Given the description of an element on the screen output the (x, y) to click on. 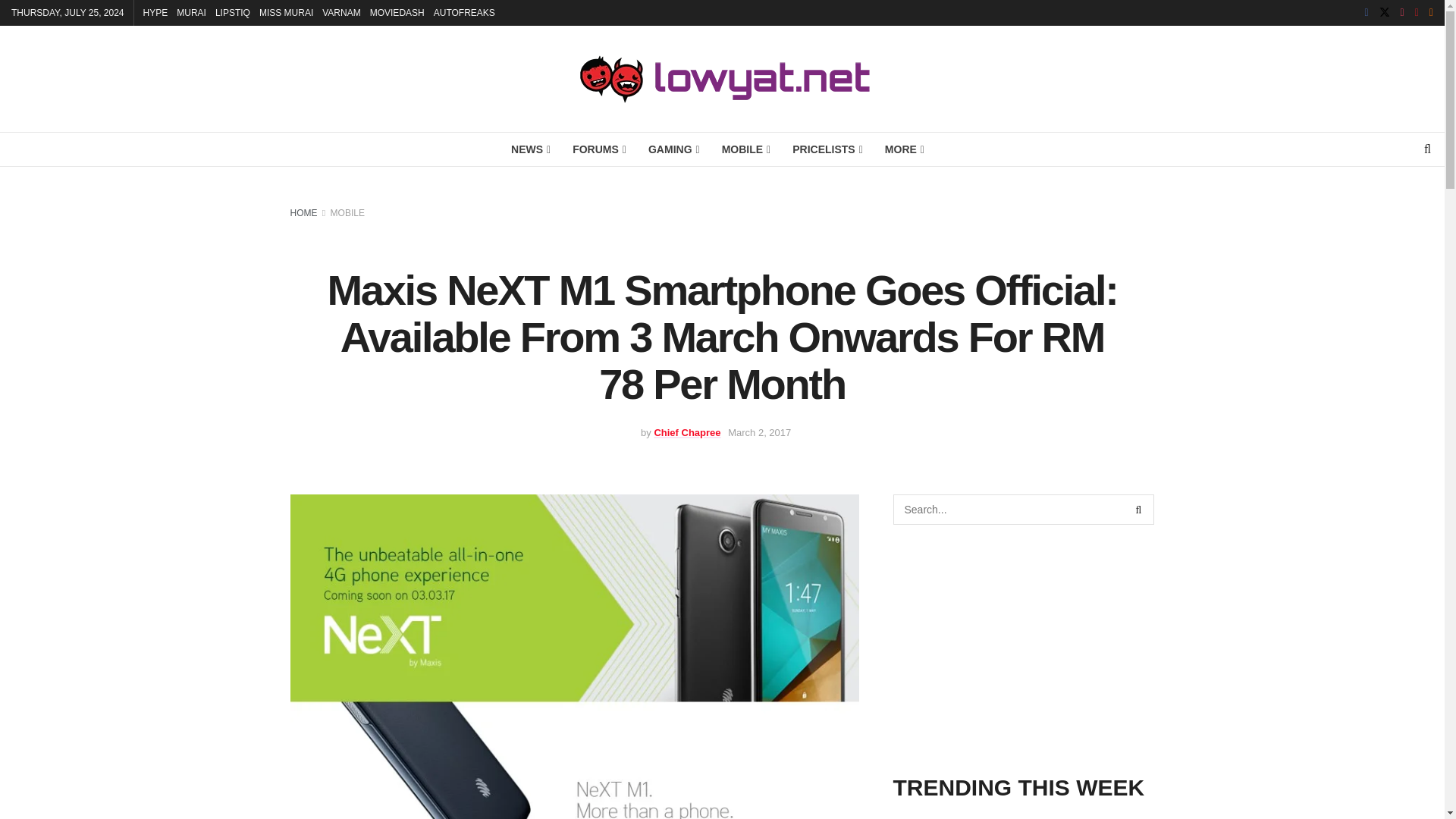
MISS MURAI (286, 12)
LIPSTIQ (232, 12)
MURAI (191, 12)
VARNAM (340, 12)
MOBILE (745, 149)
AUTOFREAKS (464, 12)
MOVIEDASH (397, 12)
GAMING (673, 149)
NEWS (529, 149)
HYPE (155, 12)
FORUMS (598, 149)
